Given the description of an element on the screen output the (x, y) to click on. 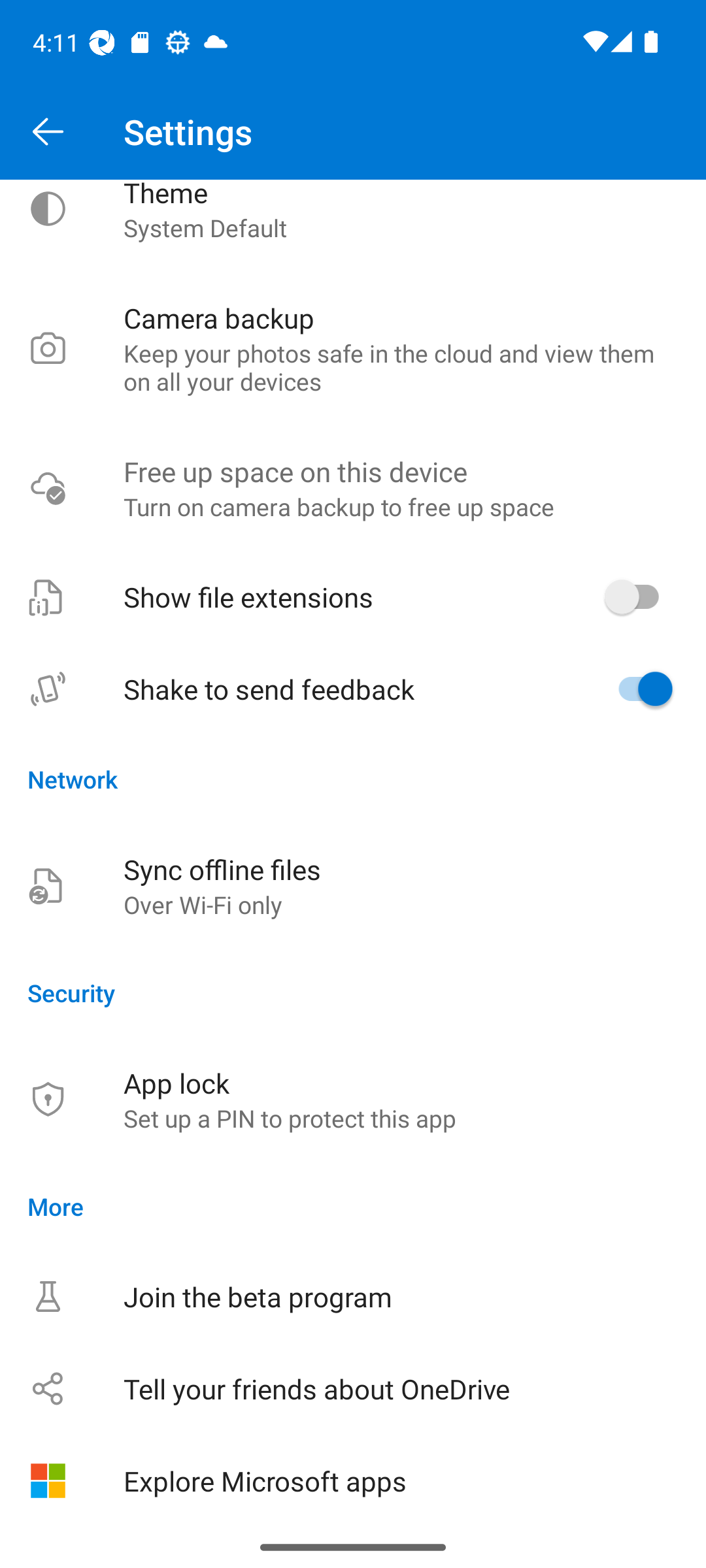
Navigate up Settings (353, 131)
Navigate up (48, 131)
Theme System Default (353, 225)
Show file extensions (353, 596)
Shake to send feedback (353, 688)
Network (353, 779)
Sync offline files Over Wi-Fi only (353, 885)
Security (353, 992)
App lock Set up a PIN to protect this app (353, 1098)
More (353, 1206)
Join the beta program (353, 1296)
Tell your friends about OneDrive (353, 1388)
Explore Microsoft apps (353, 1480)
